Given the description of an element on the screen output the (x, y) to click on. 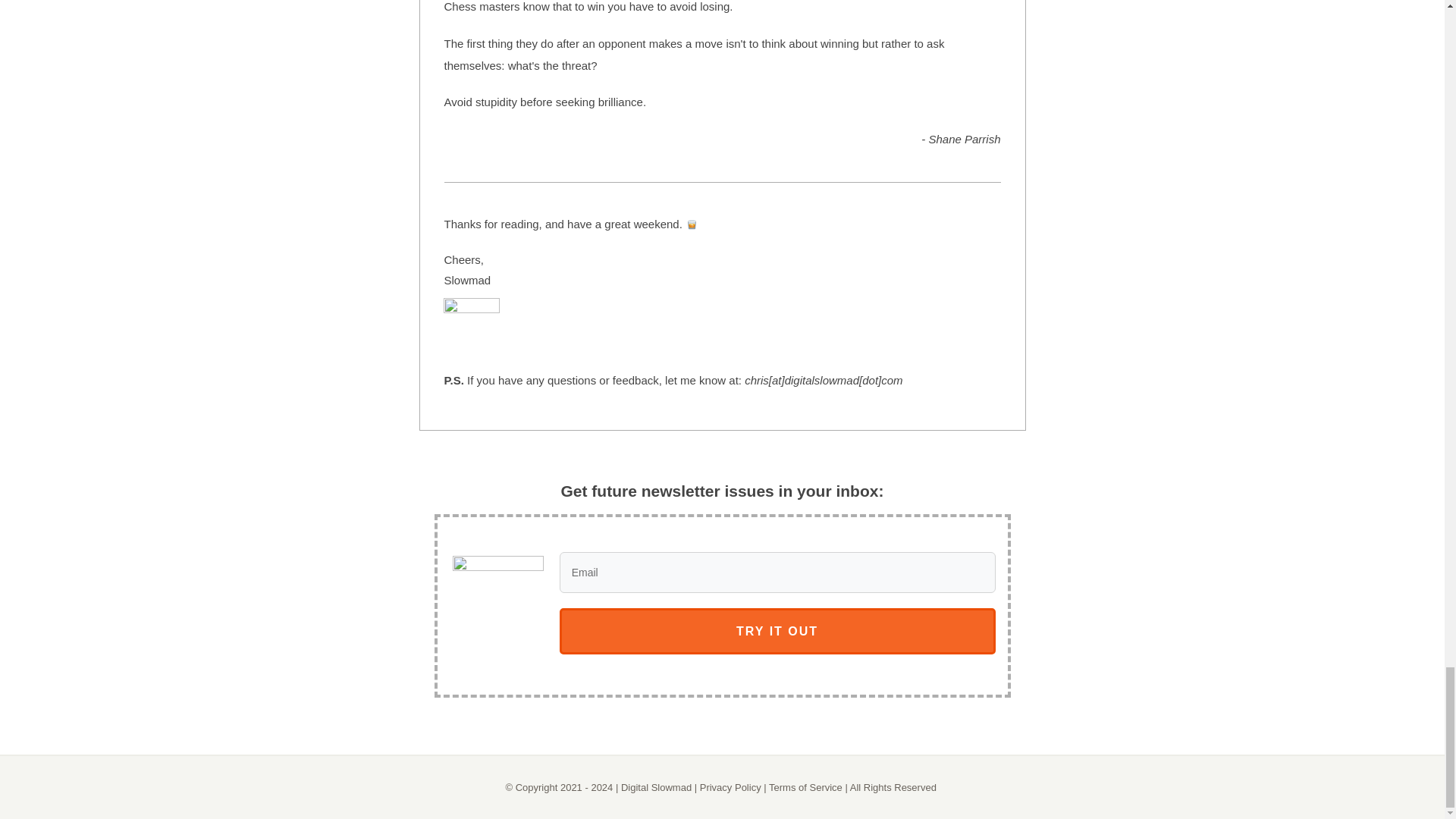
TRY IT OUT (777, 631)
Privacy Policy (730, 787)
Terms of Service (805, 787)
